Given the description of an element on the screen output the (x, y) to click on. 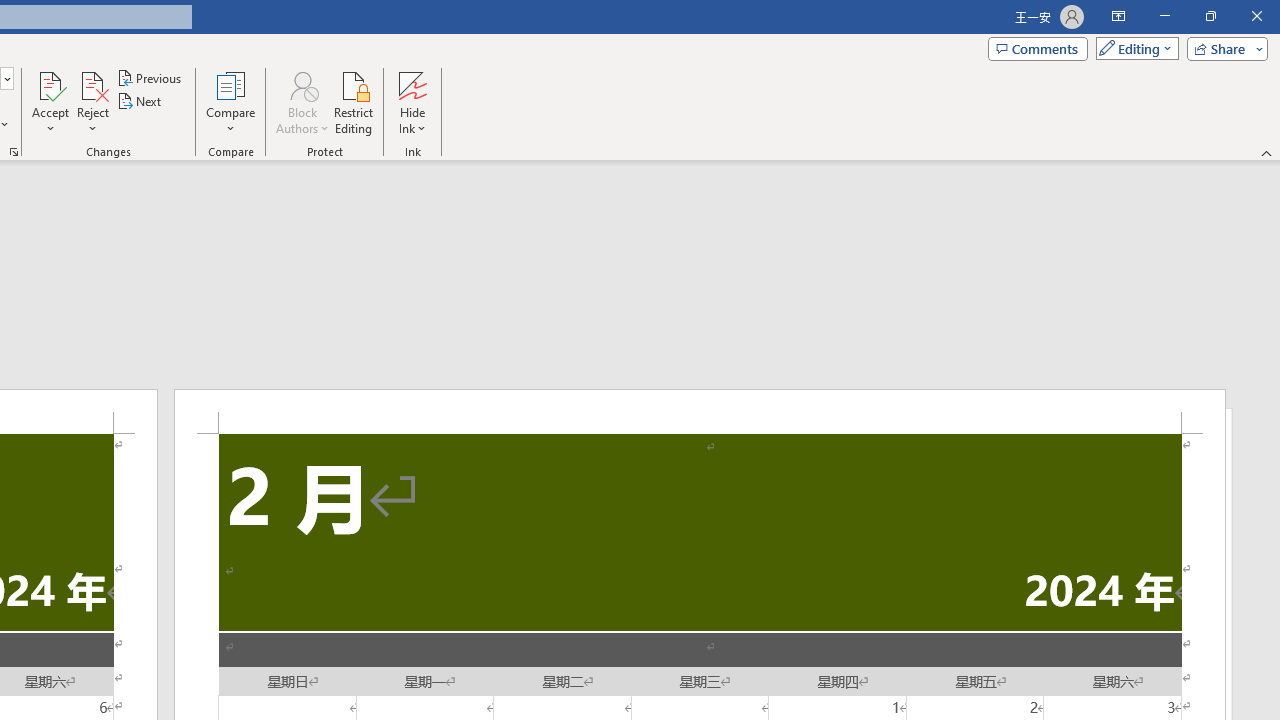
Reject and Move to Next (92, 84)
Block Authors (302, 102)
Next (140, 101)
Header -Section 2- (700, 411)
Change Tracking Options... (13, 151)
Reject (92, 102)
